Given the description of an element on the screen output the (x, y) to click on. 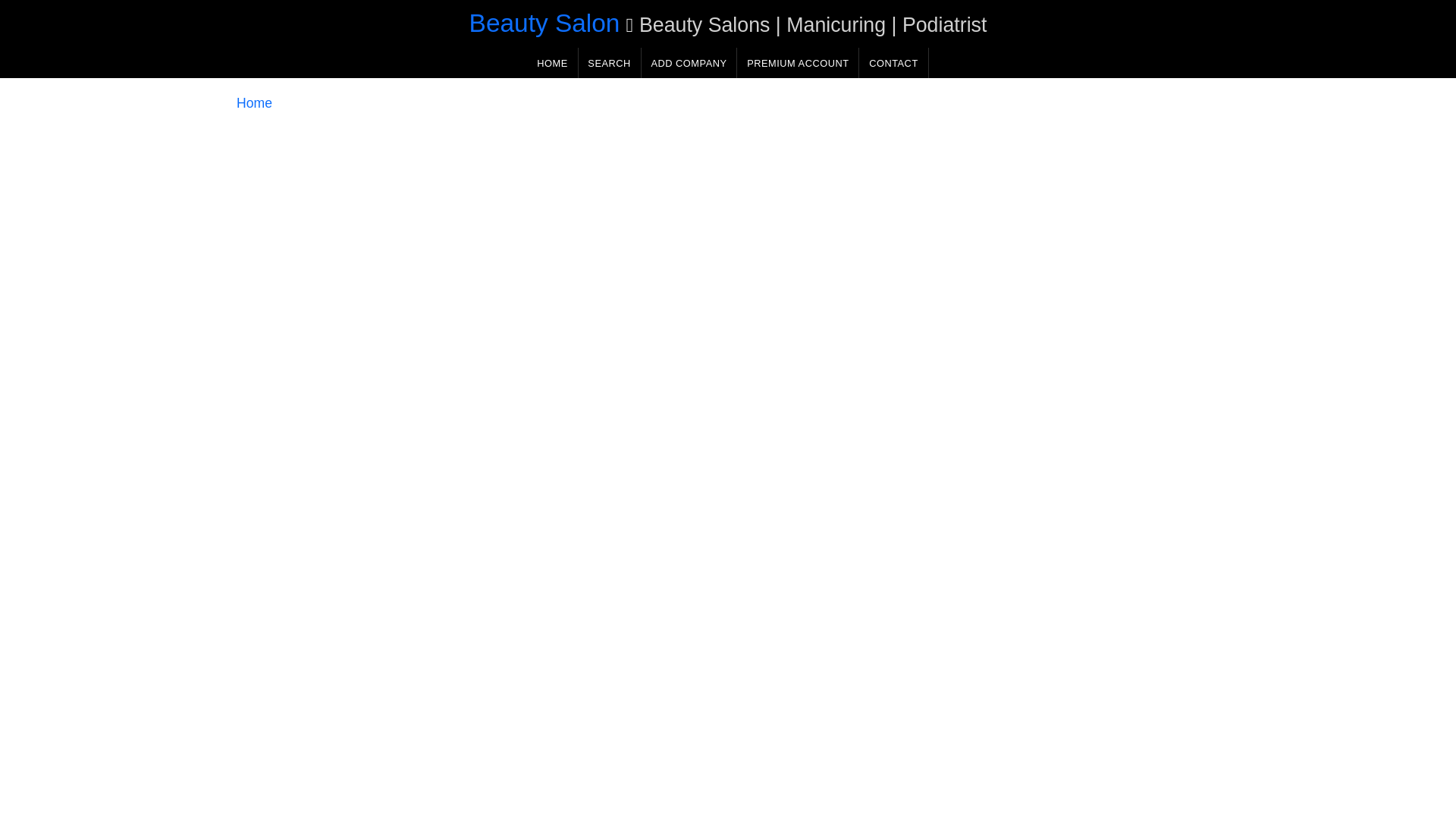
ADD COMPANY (689, 62)
CONTACT (893, 62)
Home (253, 102)
PREMIUM ACCOUNT (797, 62)
Beauty Salon (544, 22)
Add a new company (689, 62)
SEARCH (609, 62)
Premium account (797, 62)
HOME (551, 62)
